Given the description of an element on the screen output the (x, y) to click on. 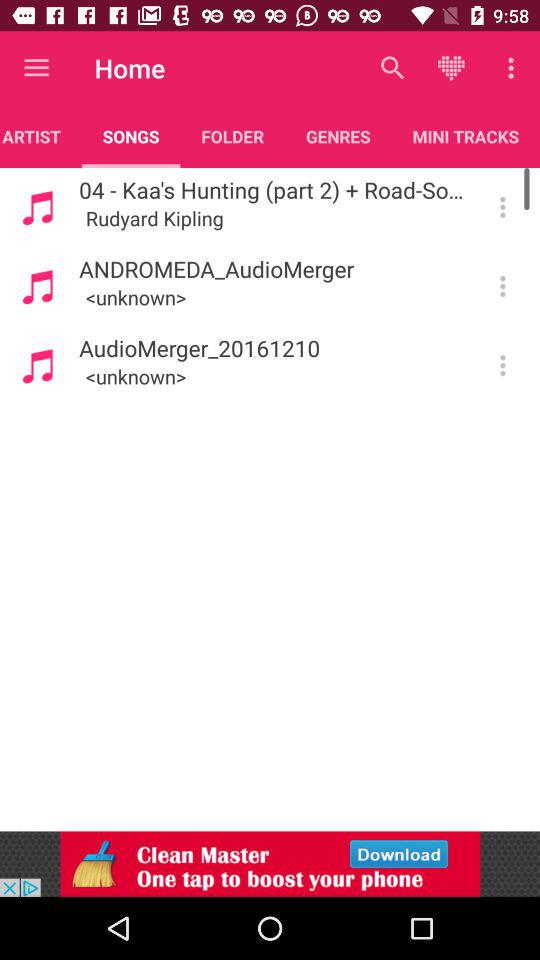
see song details (502, 365)
